Given the description of an element on the screen output the (x, y) to click on. 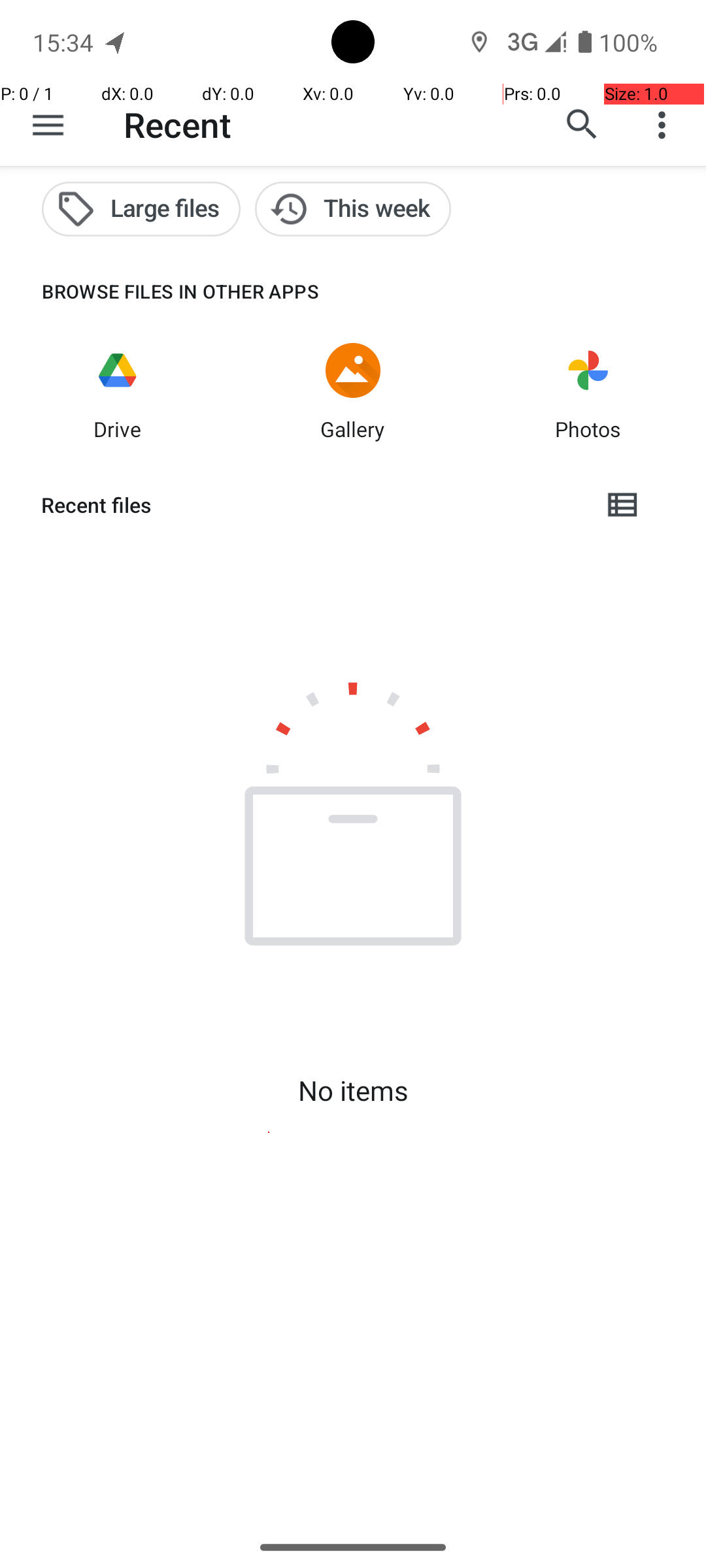
BROWSE FILES IN OTHER APPS Element type: android.widget.TextView (159, 291)
Recent files Element type: android.widget.TextView (311, 504)
